Given the description of an element on the screen output the (x, y) to click on. 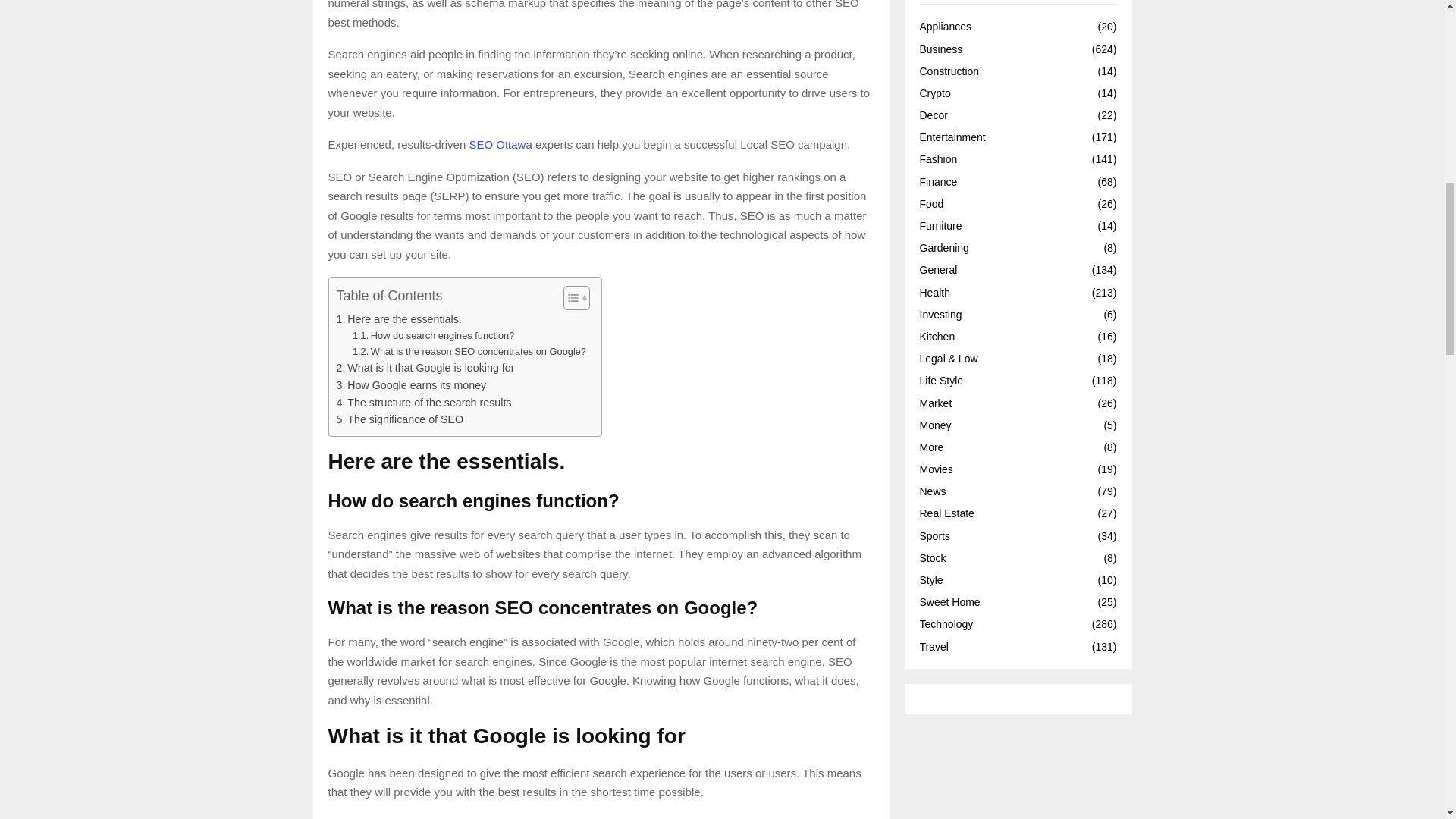
How do search engines function? (432, 335)
What is the reason SEO concentrates on Google? (469, 351)
The structure of the search results (424, 402)
The significance of SEO (400, 419)
What is it that Google is looking for (425, 367)
How Google earns its money (411, 384)
Here are the essentials. (398, 319)
